Given the description of an element on the screen output the (x, y) to click on. 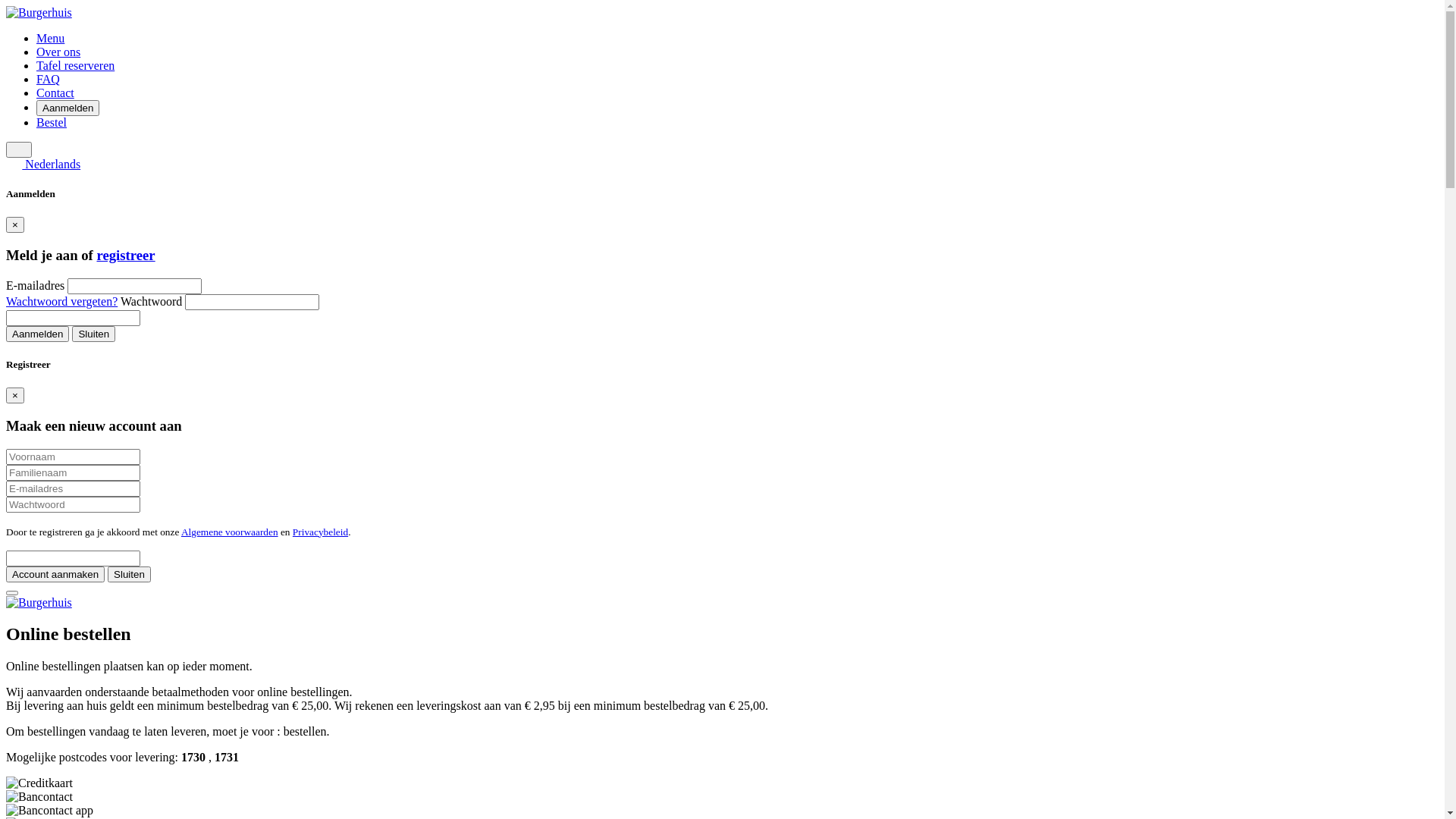
registreer Element type: text (125, 255)
Dutch Element type: hover (18, 149)
Tafel reserveren Element type: text (75, 65)
Wachtwoord vergeten? Element type: text (61, 300)
Burgerhuis Element type: hover (39, 602)
FAQ Element type: text (47, 78)
Creditkaart: Betaal met VISA of Mastercard Element type: hover (39, 783)
Nederlands Element type: text (43, 163)
Menu Element type: text (50, 37)
Aanmelden Element type: text (37, 334)
Sluiten Element type: text (93, 334)
Bestel Element type: text (51, 122)
Nederlands Element type: hover (13, 164)
Privacybeleid Element type: text (320, 531)
Over ons Element type: text (58, 51)
Contact Element type: text (55, 92)
Sluiten Element type: text (128, 574)
Bancontact: Betaal met bancontact via de terminal Element type: hover (39, 796)
Burgerhuis Element type: hover (39, 12)
Bancontact app: Betaal met Bancontact via de app Element type: hover (49, 810)
Algemene voorwaarden Element type: text (229, 531)
Aanmelden Element type: text (67, 108)
Account aanmaken Element type: text (55, 574)
